Given the description of an element on the screen output the (x, y) to click on. 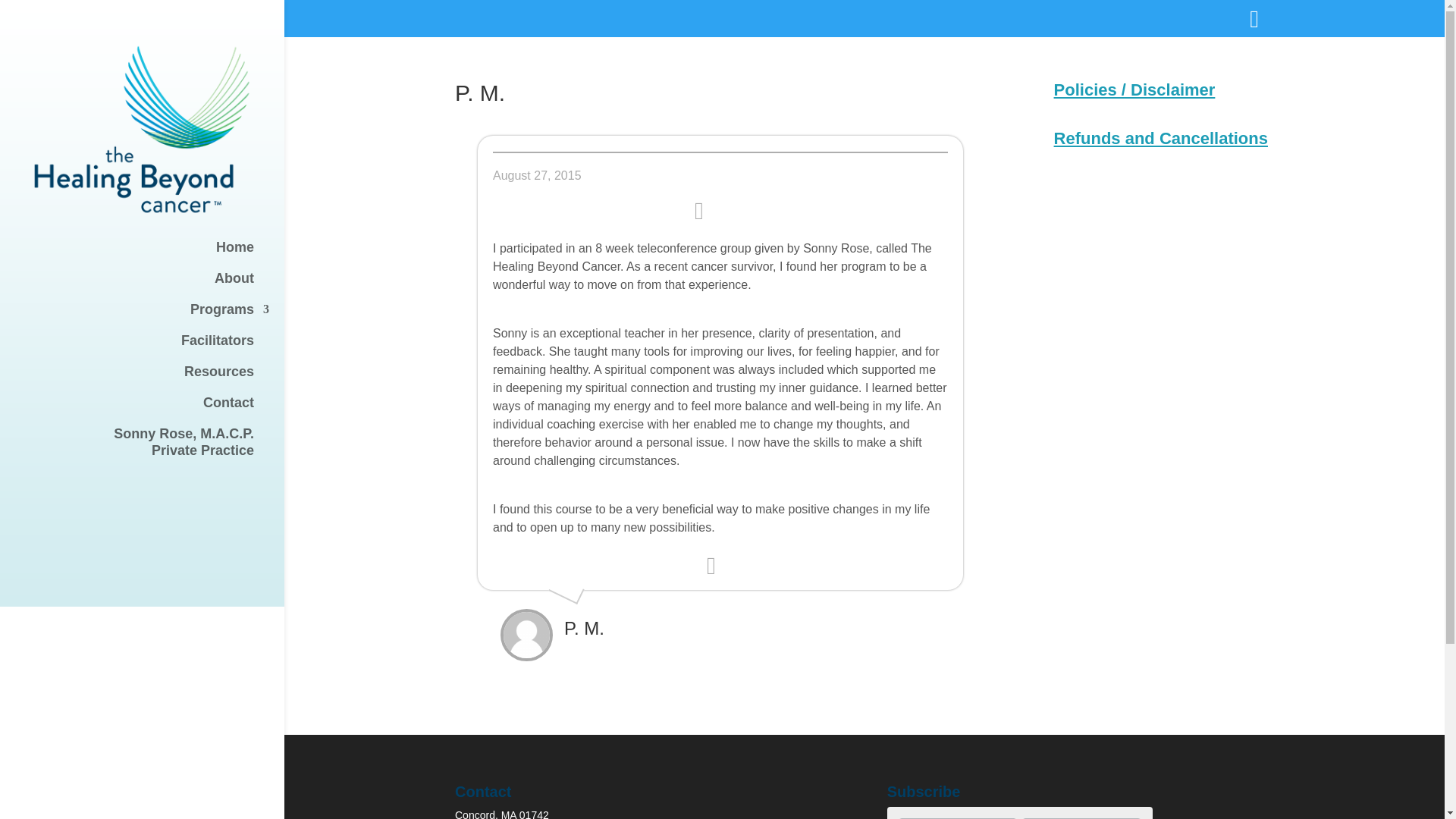
Refunds and Cancellations (1161, 138)
Programs (156, 316)
Facilitators (156, 347)
About (156, 285)
Resources (156, 449)
Contact (156, 378)
Home (156, 409)
